Given the description of an element on the screen output the (x, y) to click on. 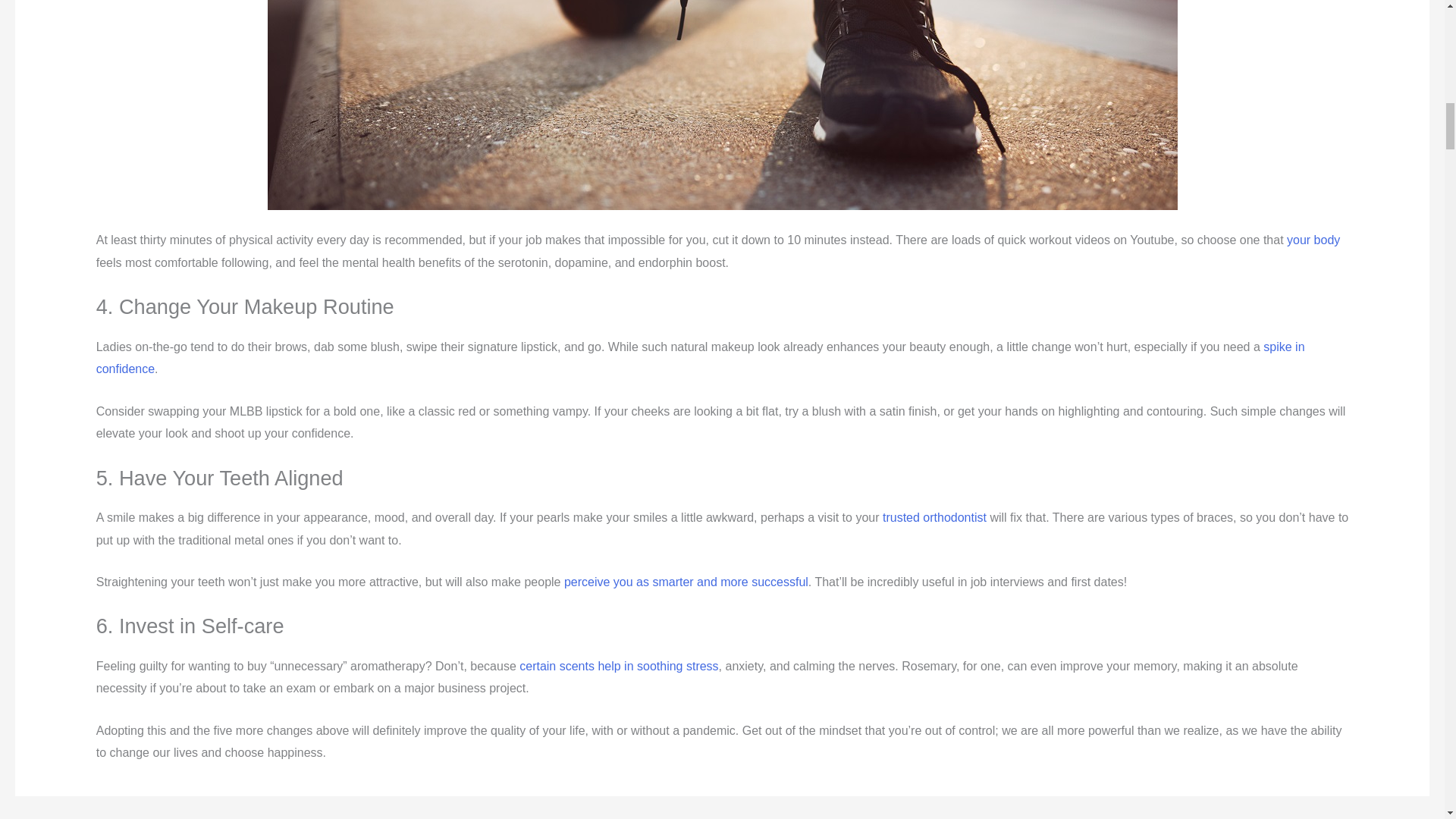
trusted orthodontist (934, 517)
perceive you as smarter and more successful (686, 581)
your body (1313, 239)
spike in confidence (700, 357)
certain scents help in soothing stress (617, 666)
